Given the description of an element on the screen output the (x, y) to click on. 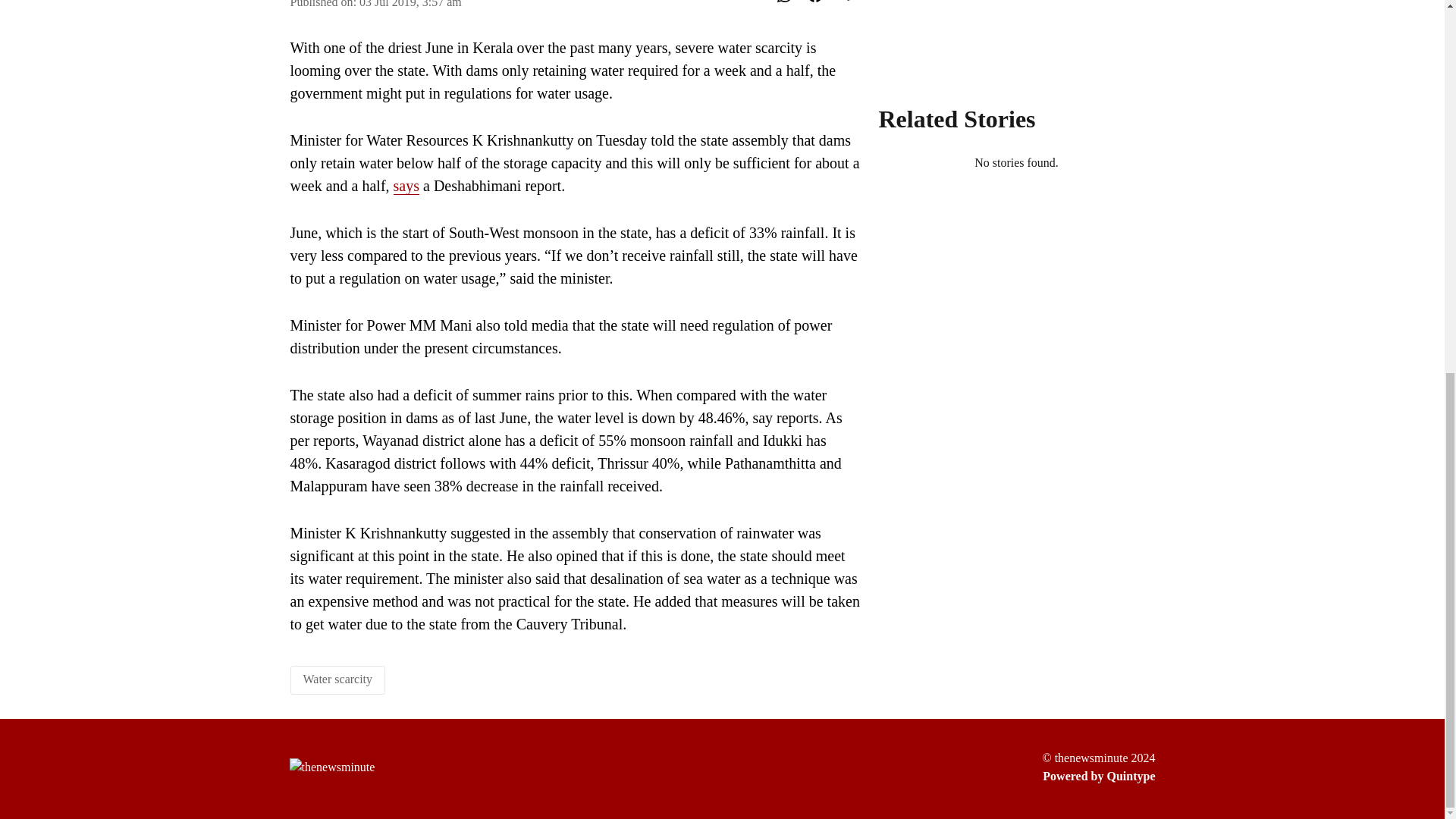
says (406, 185)
Powered by Quintype (1098, 776)
Water scarcity (337, 678)
2019-07-03 03:57 (410, 4)
